Given the description of an element on the screen output the (x, y) to click on. 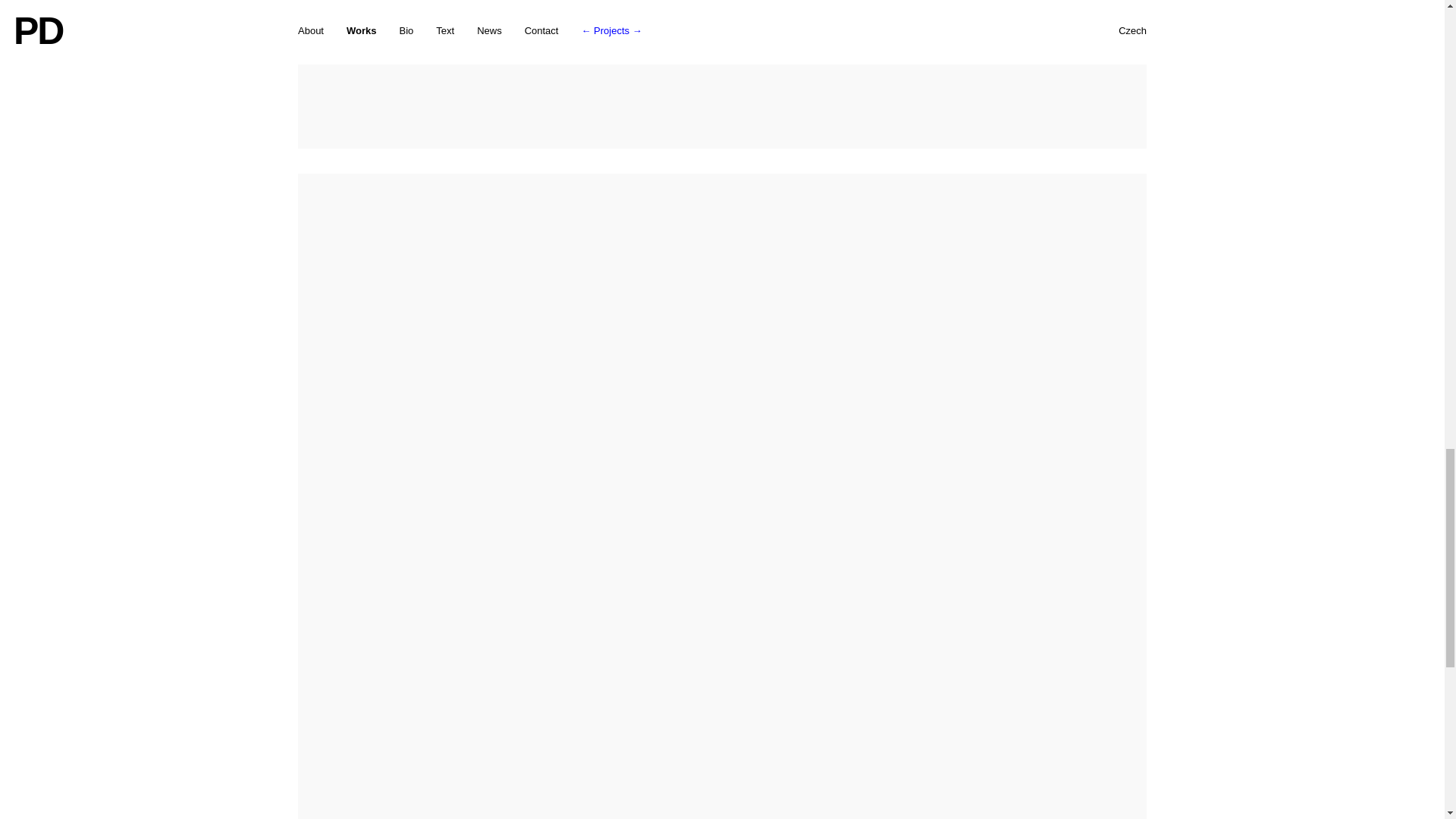
petr-dub-villa-tugendhat-torzo-kracejici-zeny (722, 74)
